Given the description of an element on the screen output the (x, y) to click on. 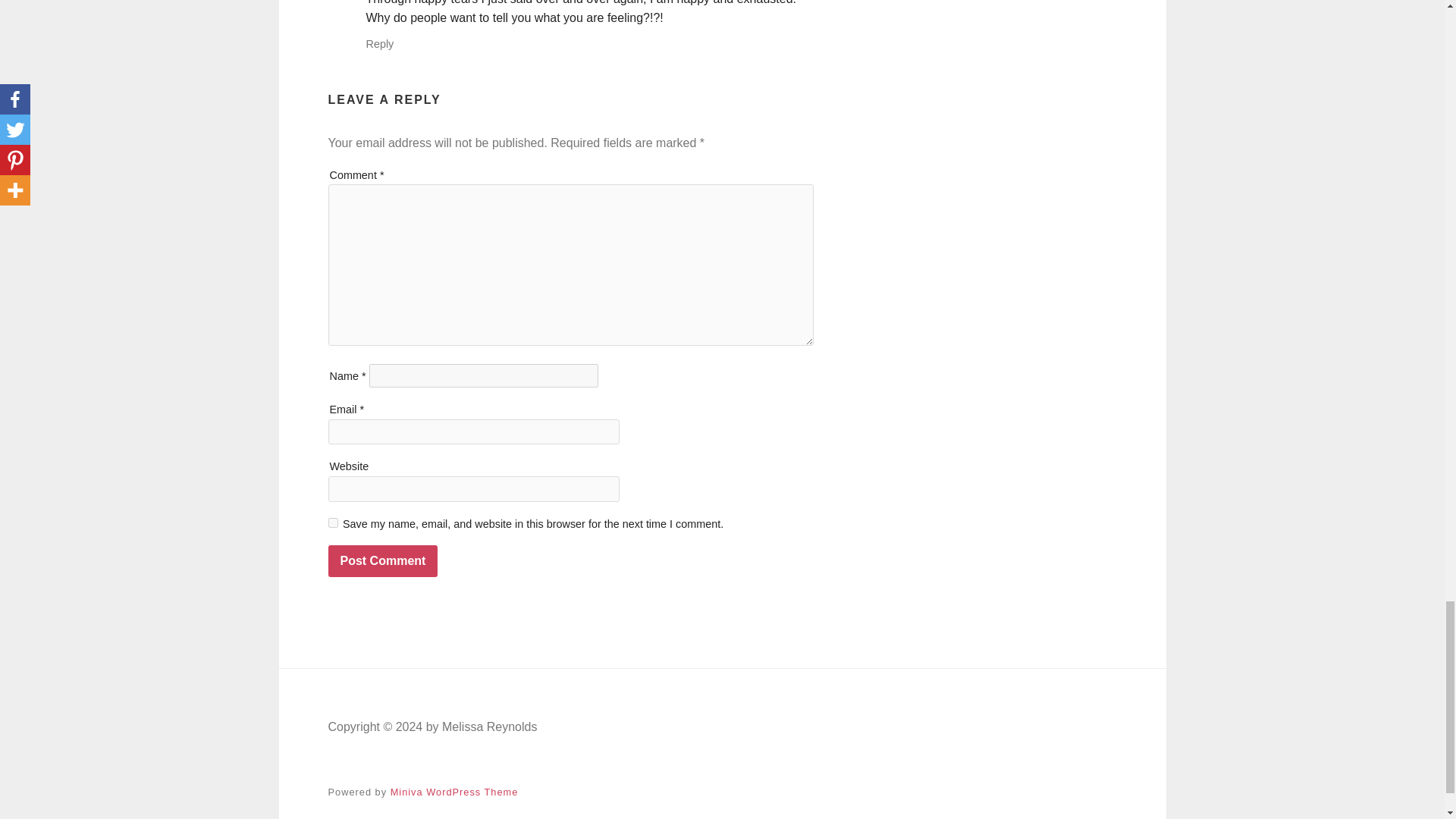
Post Comment (382, 561)
yes (332, 522)
